Given the description of an element on the screen output the (x, y) to click on. 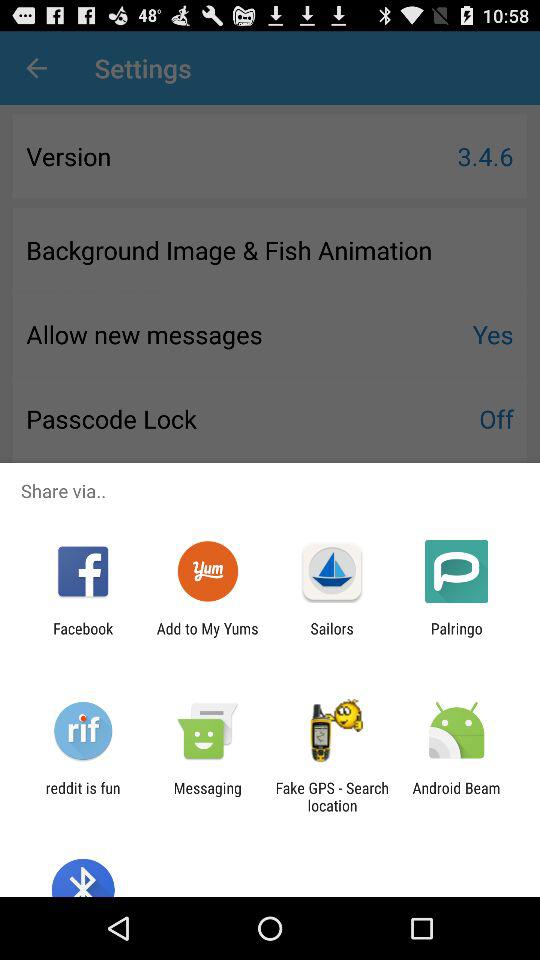
launch the app next to the facebook icon (207, 637)
